Given the description of an element on the screen output the (x, y) to click on. 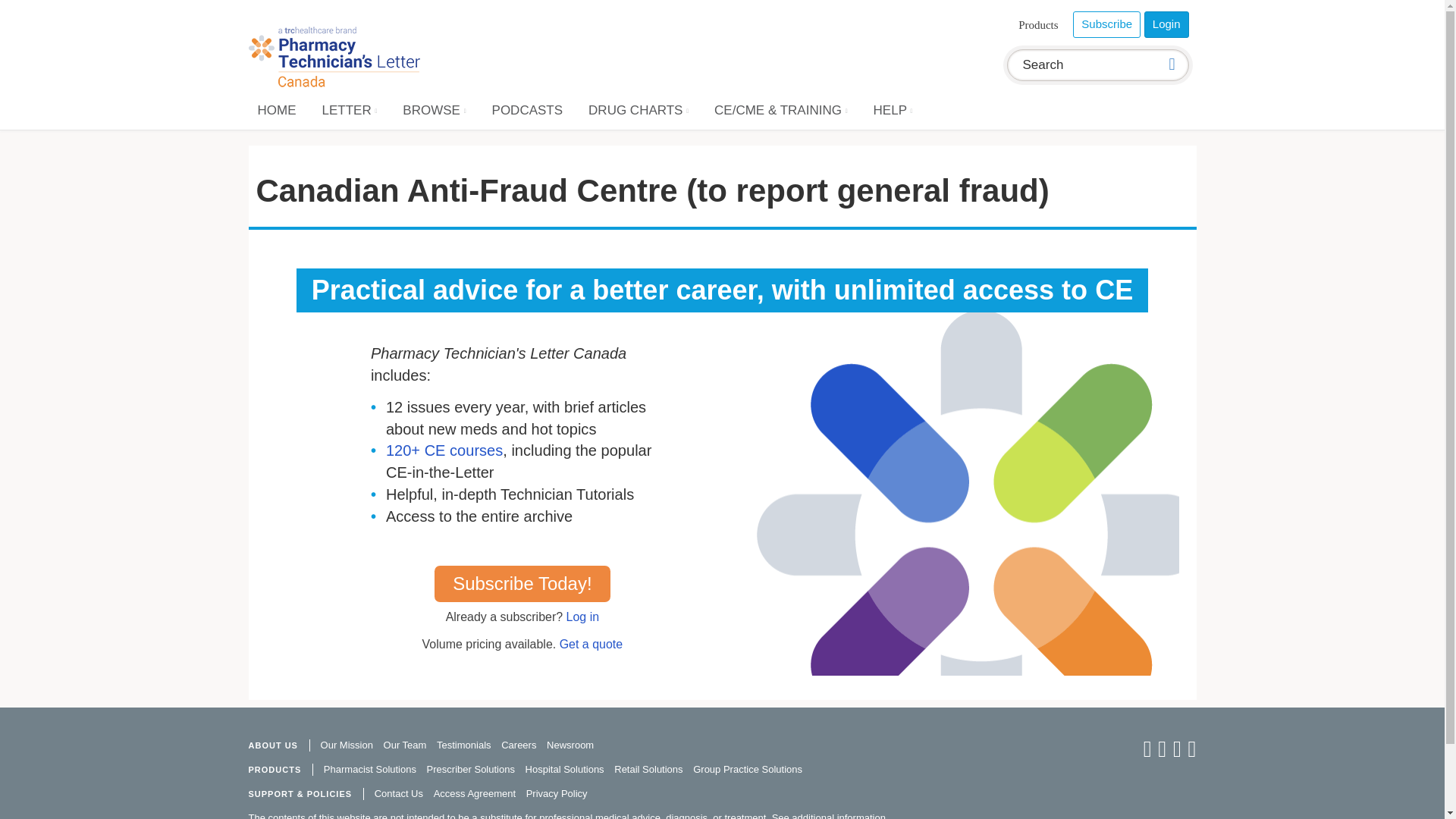
Subscribe (1106, 24)
Search (1080, 64)
Login (1166, 24)
DRUG CHARTS (638, 110)
HOME (276, 110)
Search (1172, 64)
BROWSE (433, 110)
PODCASTS (527, 110)
Products (1038, 25)
LETTER (349, 110)
